Given the description of an element on the screen output the (x, y) to click on. 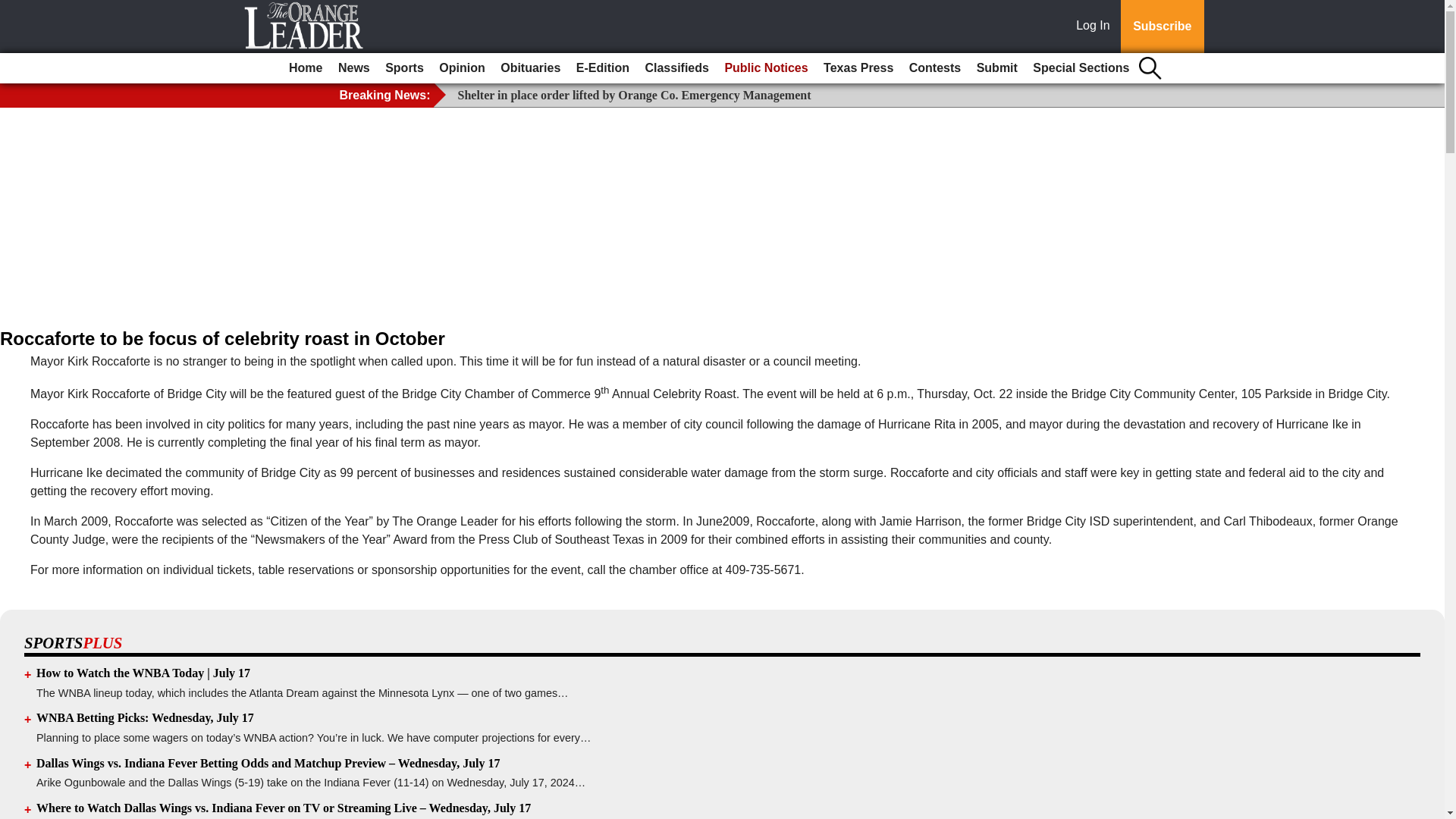
Home (305, 68)
Special Sections (1080, 68)
Obituaries (530, 68)
Subscribe (1162, 26)
Public Notices (765, 68)
Contests (934, 68)
Opinion (461, 68)
News (353, 68)
E-Edition (602, 68)
Classifieds (676, 68)
WNBA Betting Picks: Wednesday, July 17 (144, 717)
Sports (403, 68)
Texas Press (857, 68)
